Given the description of an element on the screen output the (x, y) to click on. 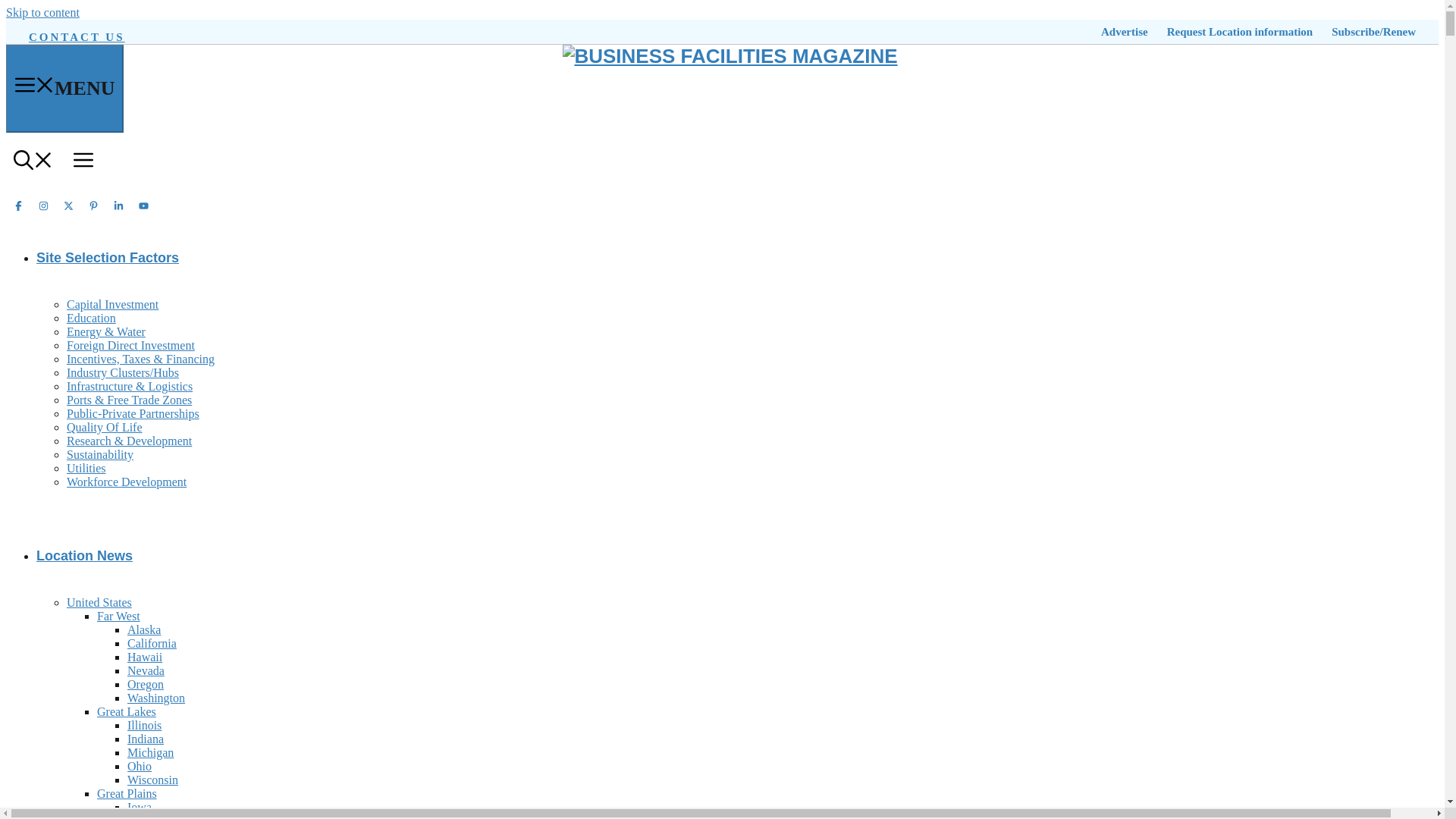
Capital Investment (112, 304)
California (152, 643)
Great Lakes (126, 711)
Sustainability (99, 454)
Advertise (1124, 31)
Business Facilities Magazine (729, 56)
Hawaii (144, 656)
Skip to content (42, 11)
Business Facilities Magazine (729, 56)
Alaska (144, 629)
